Given the description of an element on the screen output the (x, y) to click on. 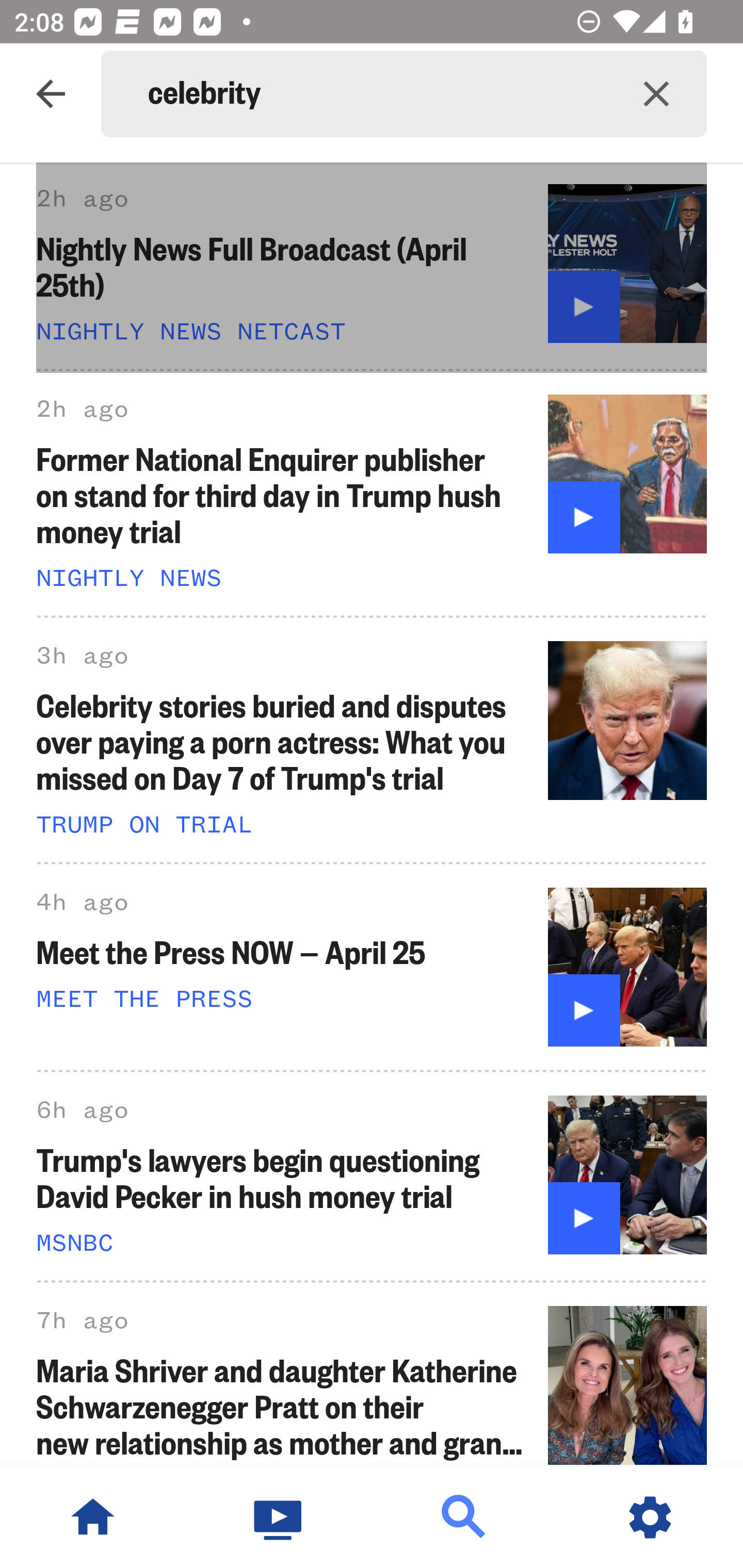
Navigate up (50, 93)
Clear query (656, 93)
celebrity (376, 94)
NBC News Home (92, 1517)
Watch (278, 1517)
Settings (650, 1517)
